Given the description of an element on the screen output the (x, y) to click on. 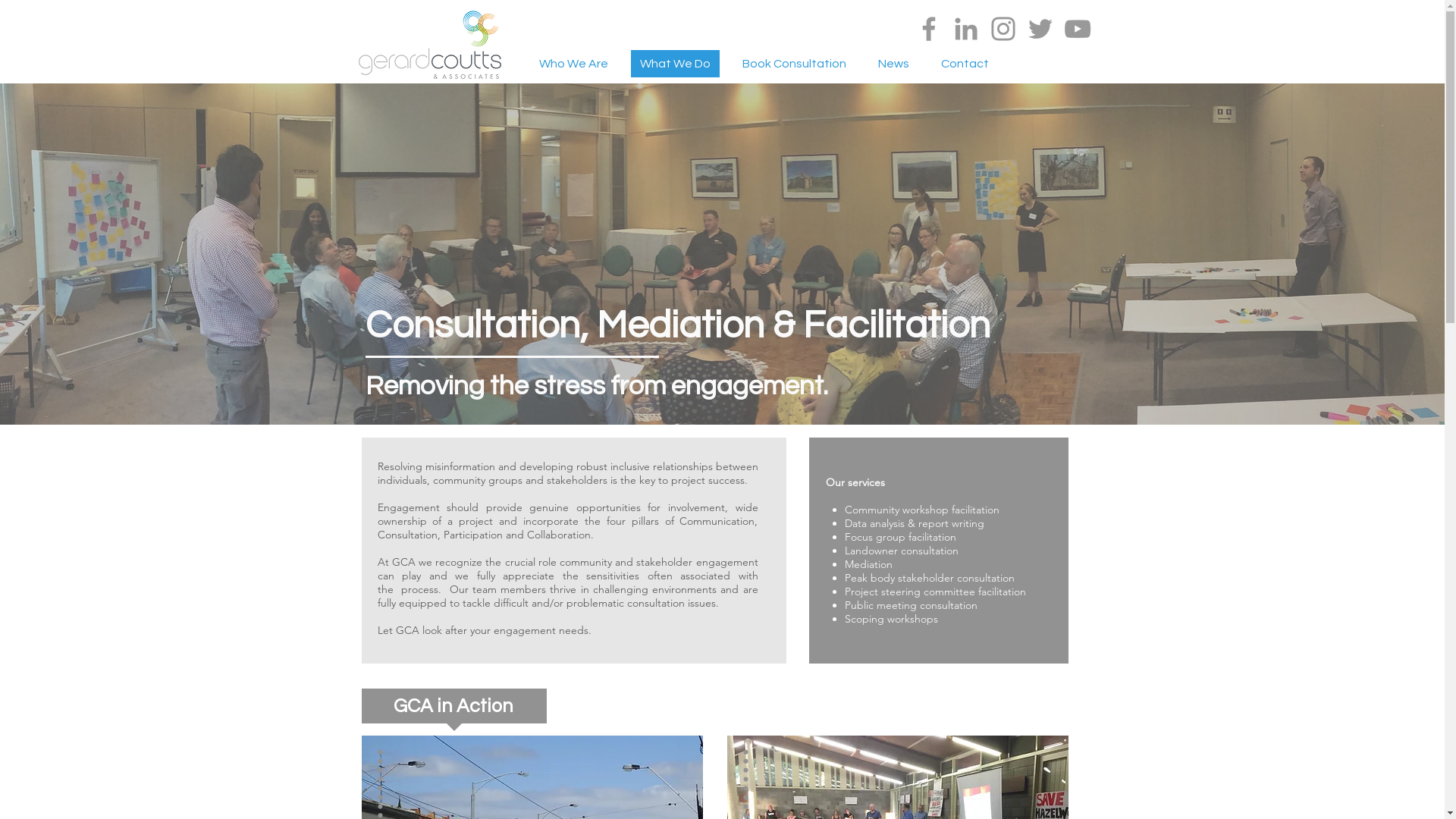
News Element type: text (893, 63)
Site Search Element type: hover (1052, 65)
COU Gerard Coutts logo_pos4_2014.png Element type: hover (429, 44)
Who We Are Element type: text (572, 63)
Book Consultation Element type: text (793, 63)
What We Do Element type: text (674, 63)
Contact Element type: text (964, 63)
